Given the description of an element on the screen output the (x, y) to click on. 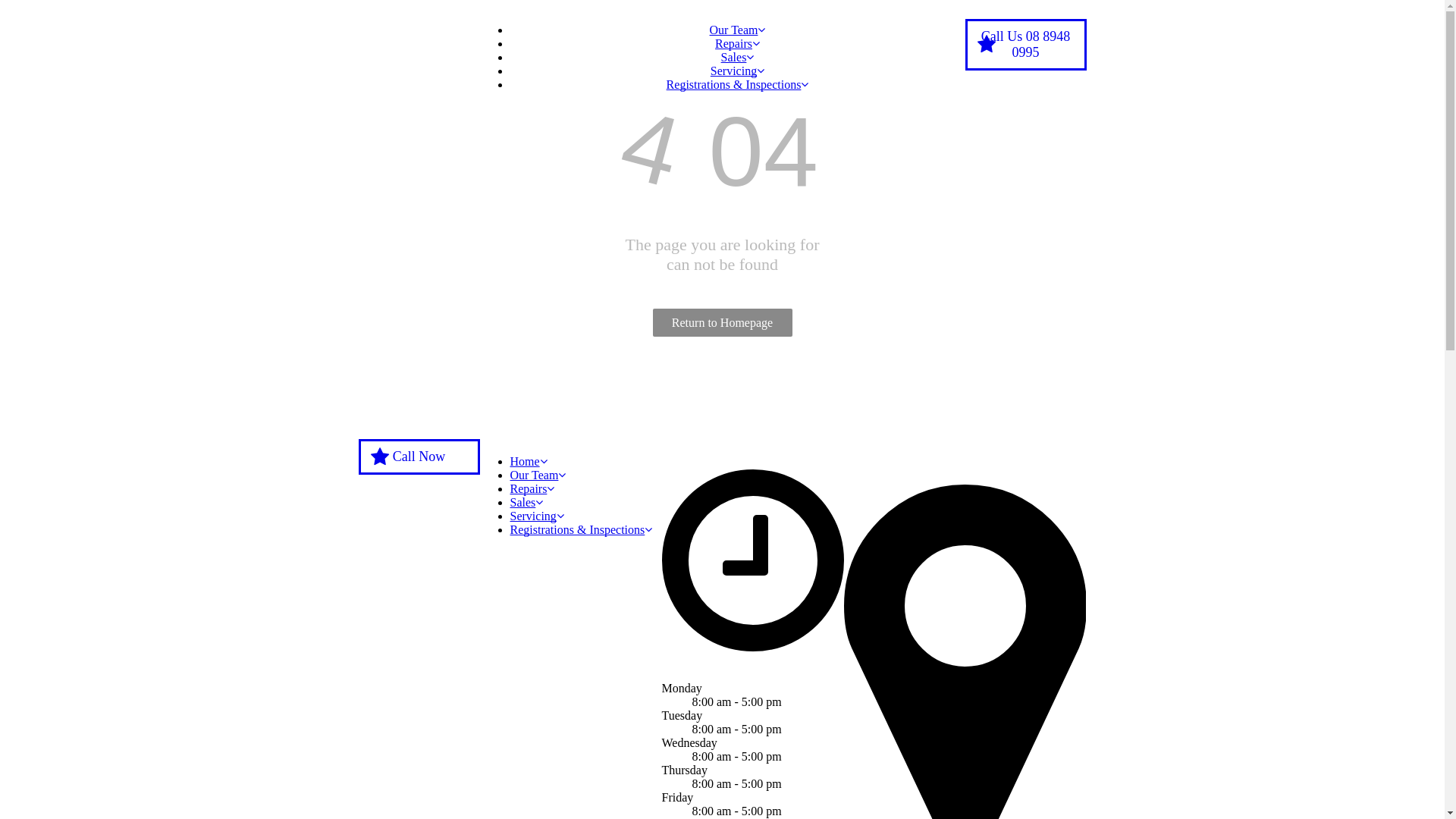
Sales Element type: text (525, 501)
Call Now Element type: text (418, 456)
Registrations & Inspections Element type: text (580, 529)
Home Element type: text (527, 461)
Sales Element type: text (737, 56)
Repairs Element type: text (737, 43)
Repairs Element type: text (531, 488)
Call Us 08 8948 0995 Element type: text (1024, 44)
Return to Homepage Element type: text (721, 322)
Servicing Element type: text (737, 70)
Our Team Element type: text (537, 474)
Servicing Element type: text (536, 515)
Our Team Element type: text (737, 29)
Registrations & Inspections Element type: text (737, 84)
